Given the description of an element on the screen output the (x, y) to click on. 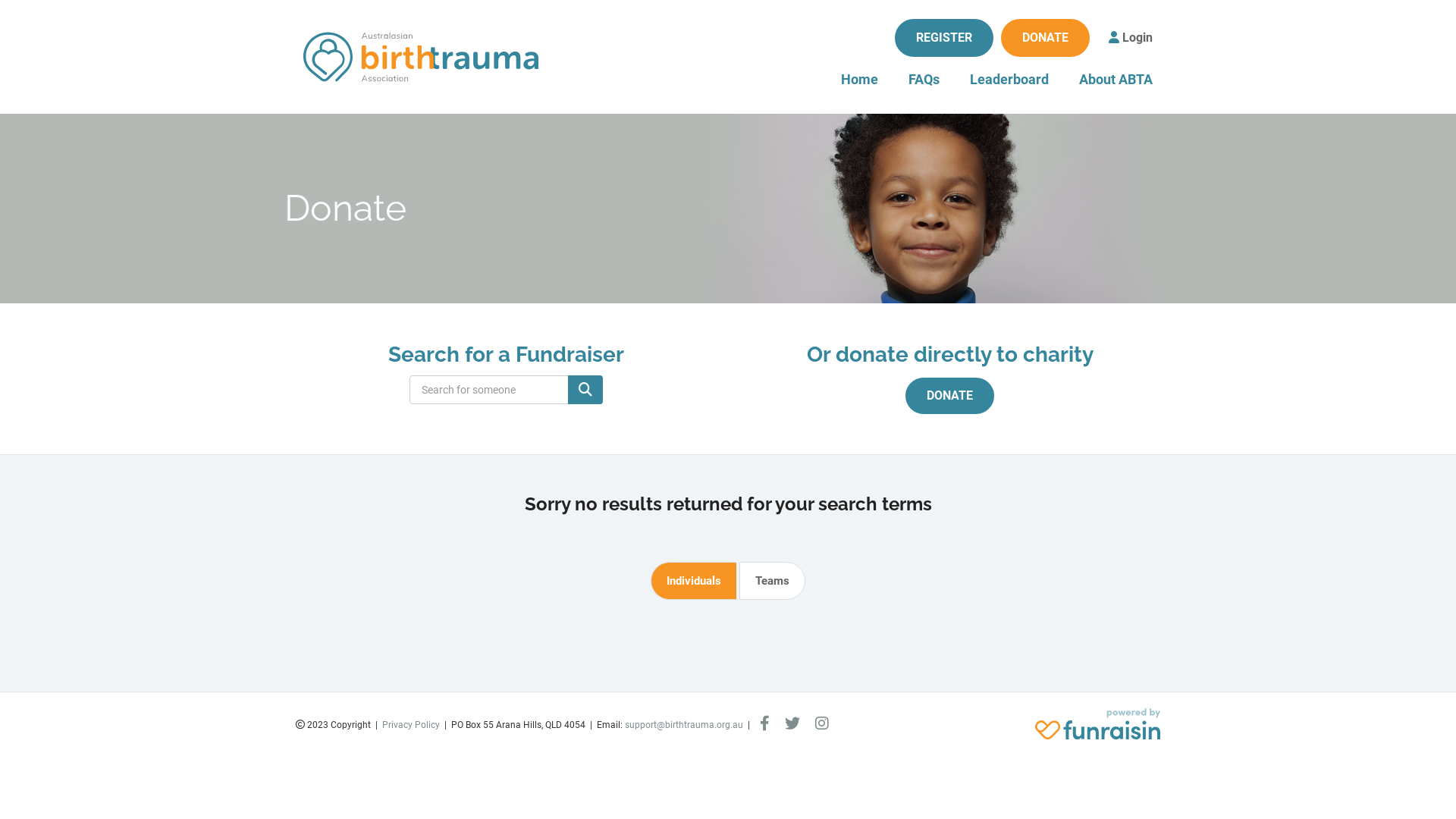
DONATE Element type: text (1045, 37)
Privacy Policy Element type: text (410, 724)
Home Element type: text (859, 79)
DONATE Element type: text (949, 395)
Leaderboard Element type: text (1008, 79)
REGISTER Element type: text (943, 37)
Teams Element type: text (772, 580)
Individuals Element type: text (693, 580)
FAQs Element type: text (923, 79)
support@birthtrauma.org.au Element type: text (683, 724)
Login Element type: text (1130, 37)
About ABTA Element type: text (1115, 79)
